Given the description of an element on the screen output the (x, y) to click on. 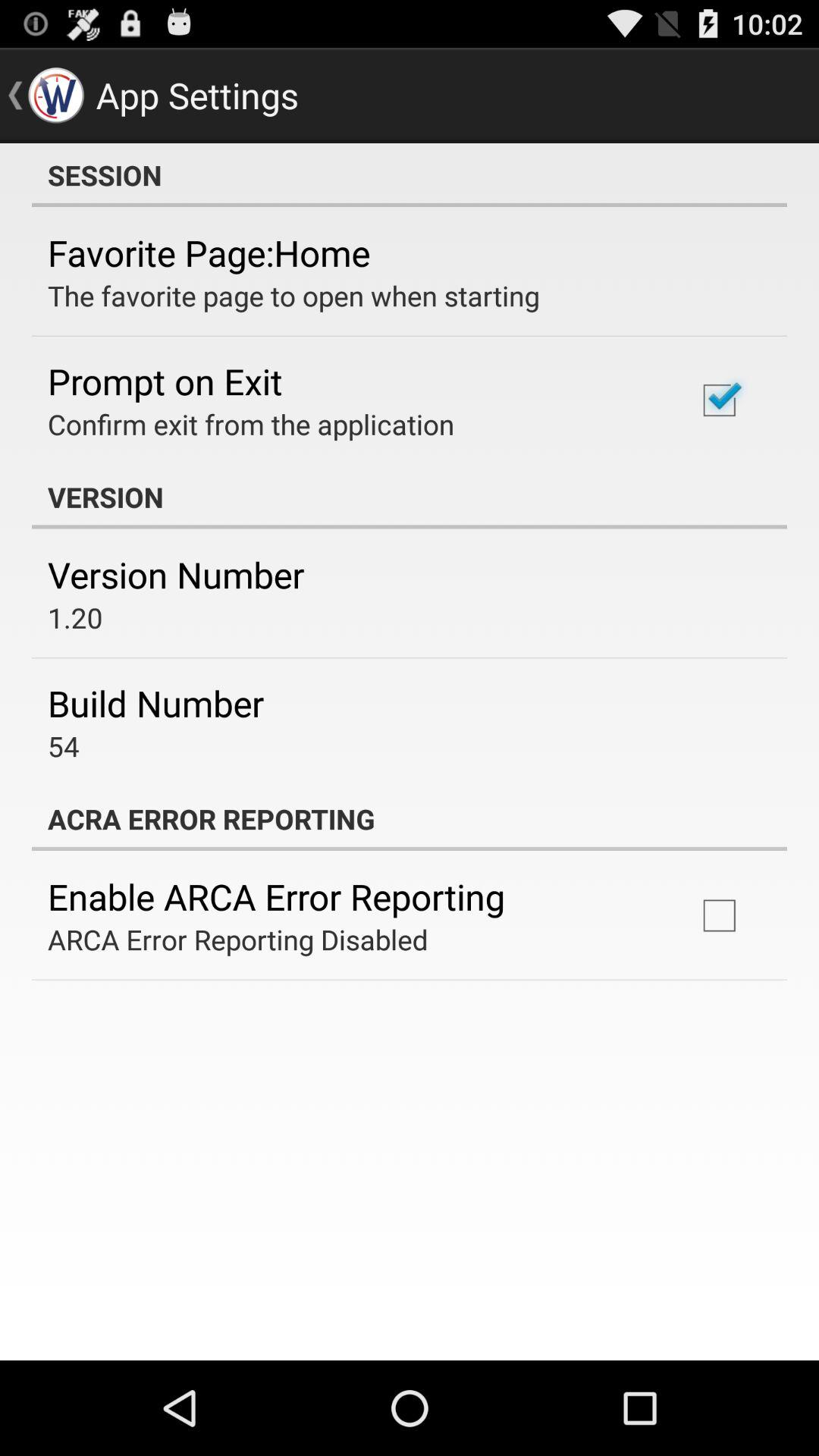
press the item below version number icon (74, 617)
